Given the description of an element on the screen output the (x, y) to click on. 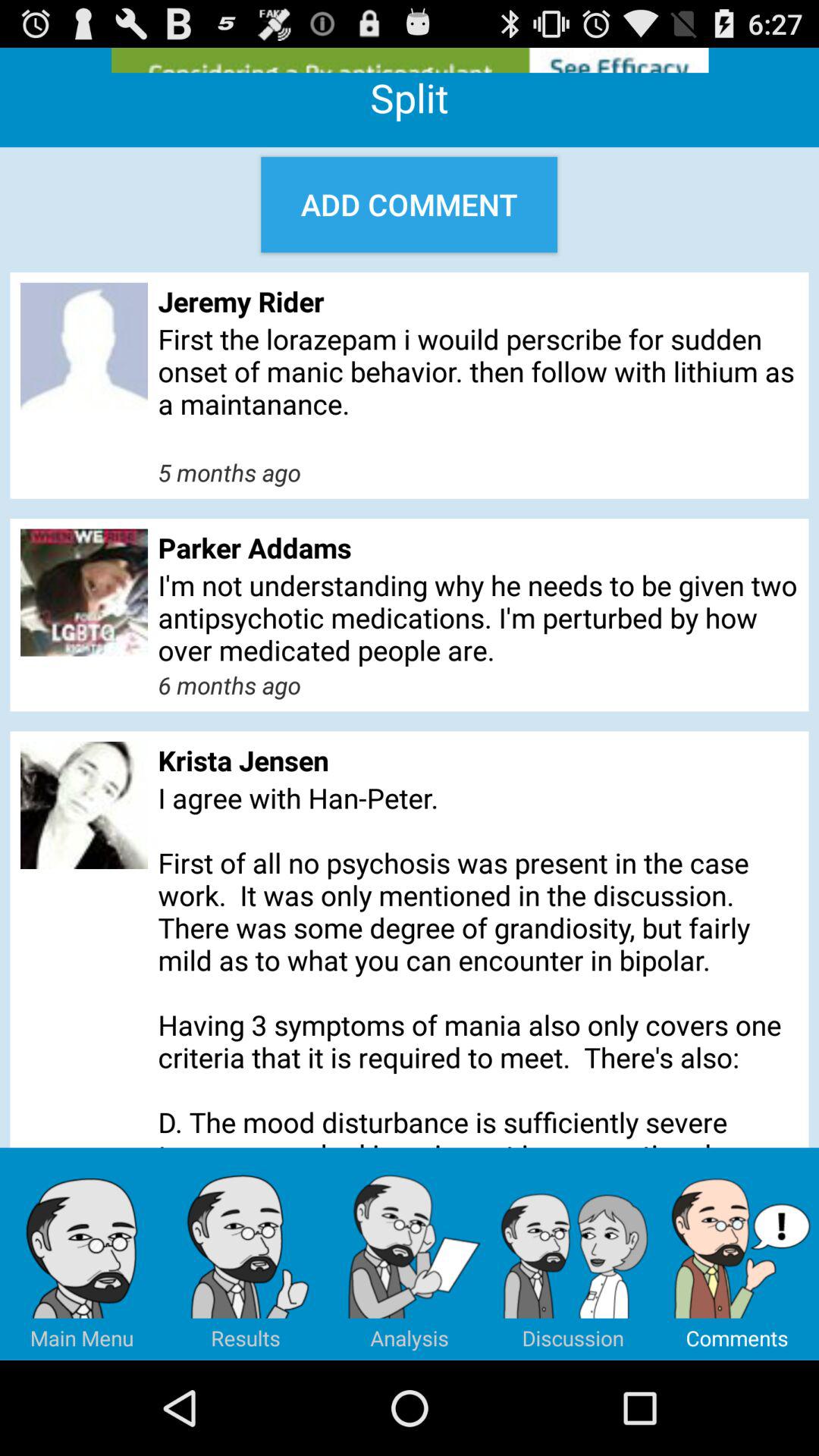
choose app above the jeremy rider (409, 204)
